Given the description of an element on the screen output the (x, y) to click on. 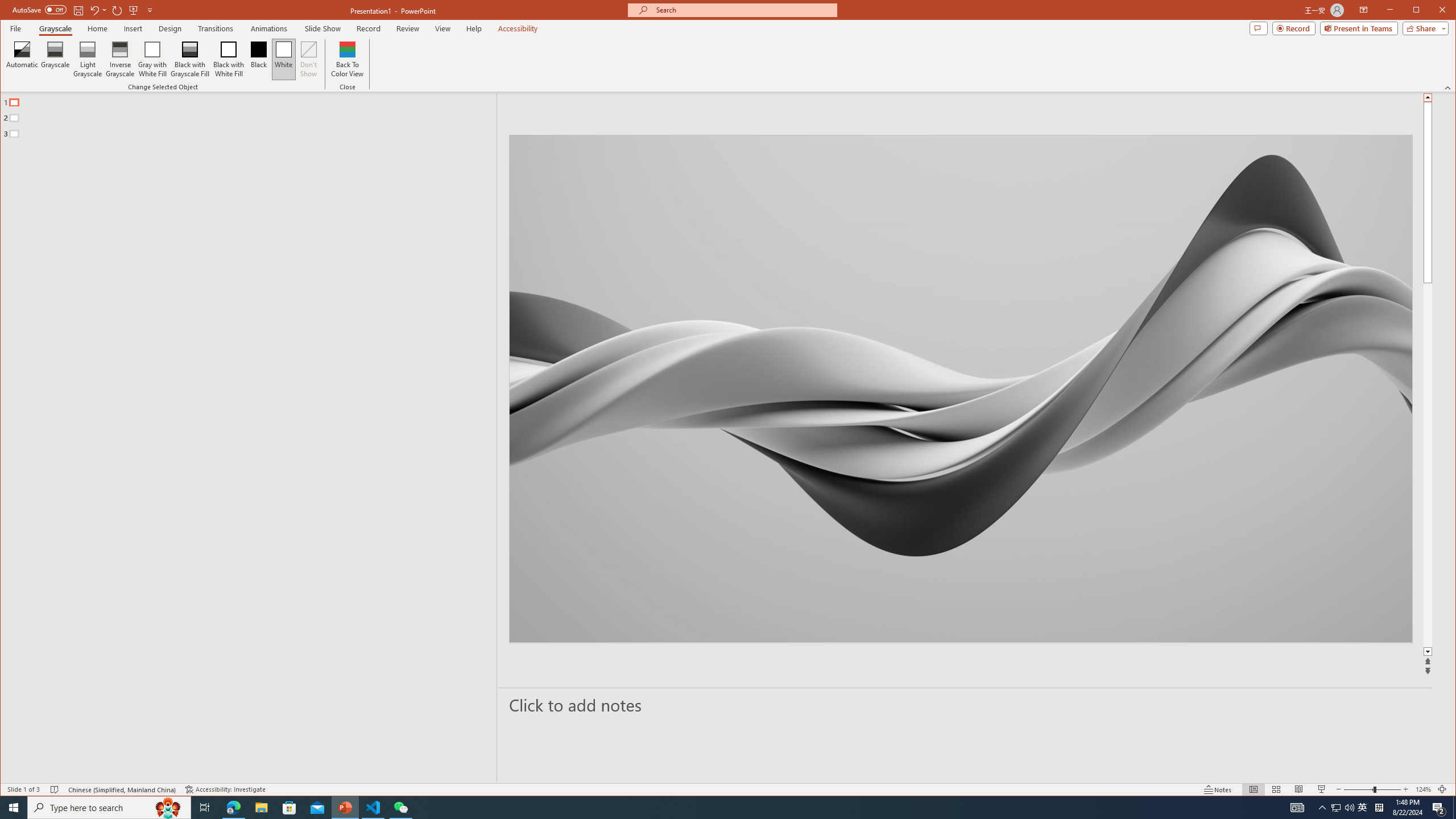
WeChat - 1 running window (400, 807)
Q2790: 100% (1349, 807)
Rectangle (242, 436)
Zoom 124% (1422, 789)
Zoom to Fit  (1441, 789)
Light Grayscale (87, 59)
Type here to search (108, 807)
Gray with White Fill (152, 59)
Grayscale (55, 28)
Visual Studio Code - 1 running window (373, 807)
Notification Chevron (1322, 807)
Accessibility (518, 28)
Show desktop (1454, 807)
